Given the description of an element on the screen output the (x, y) to click on. 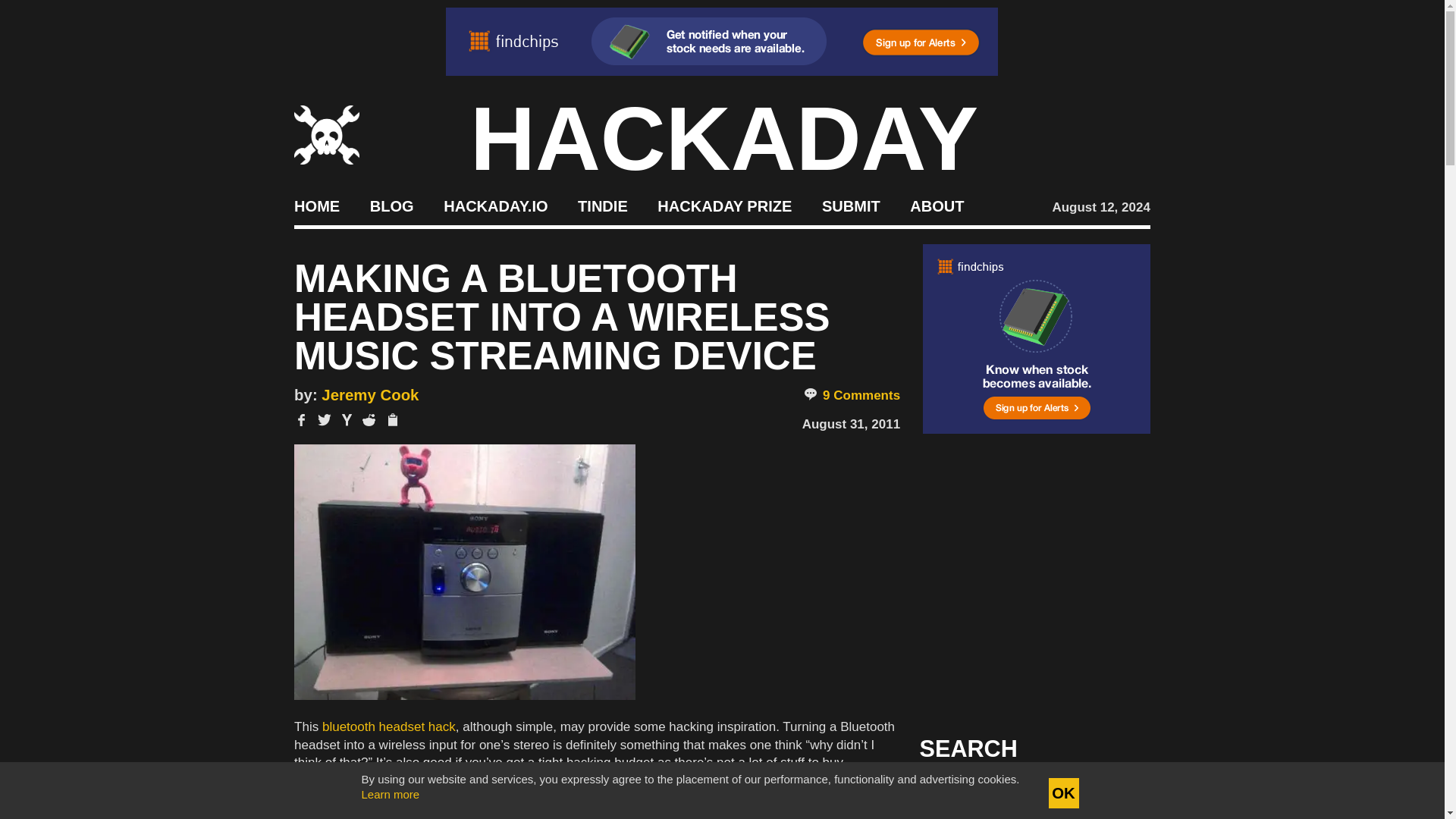
TINDIE (602, 205)
Posts by Jeremy Cook (370, 394)
Jeremy Cook (370, 394)
SUBMIT (851, 205)
HACKADAY PRIZE (725, 205)
August 31, 2011 (850, 423)
Build Something that Matters (725, 205)
HOME (316, 205)
Finaly (464, 572)
Search (1115, 792)
